Given the description of an element on the screen output the (x, y) to click on. 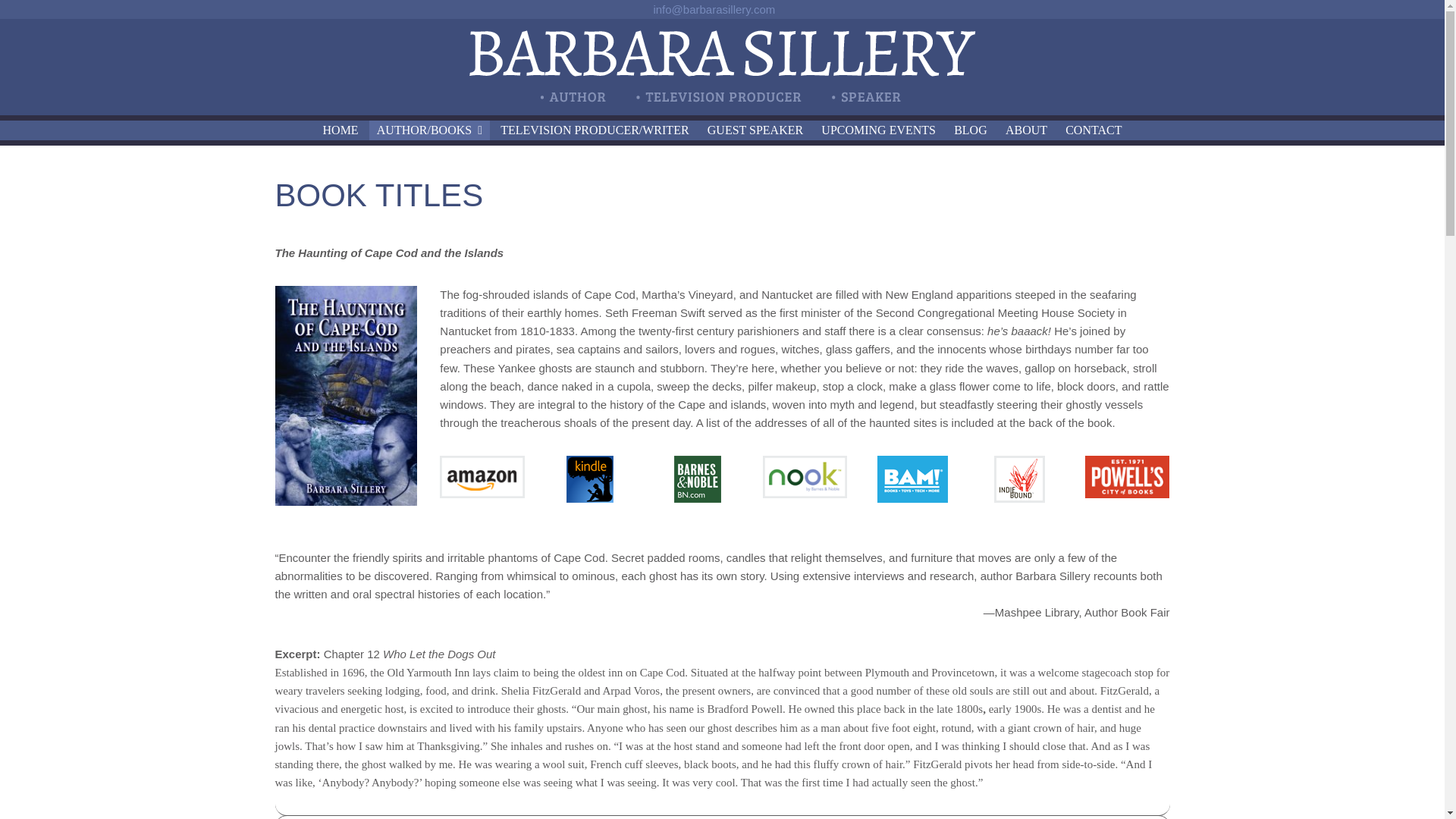
CONTACT (1093, 130)
BLOG (970, 130)
ABOUT (1025, 130)
UPCOMING EVENTS (878, 130)
HOME (340, 130)
GUEST SPEAKER (755, 130)
